Given the description of an element on the screen output the (x, y) to click on. 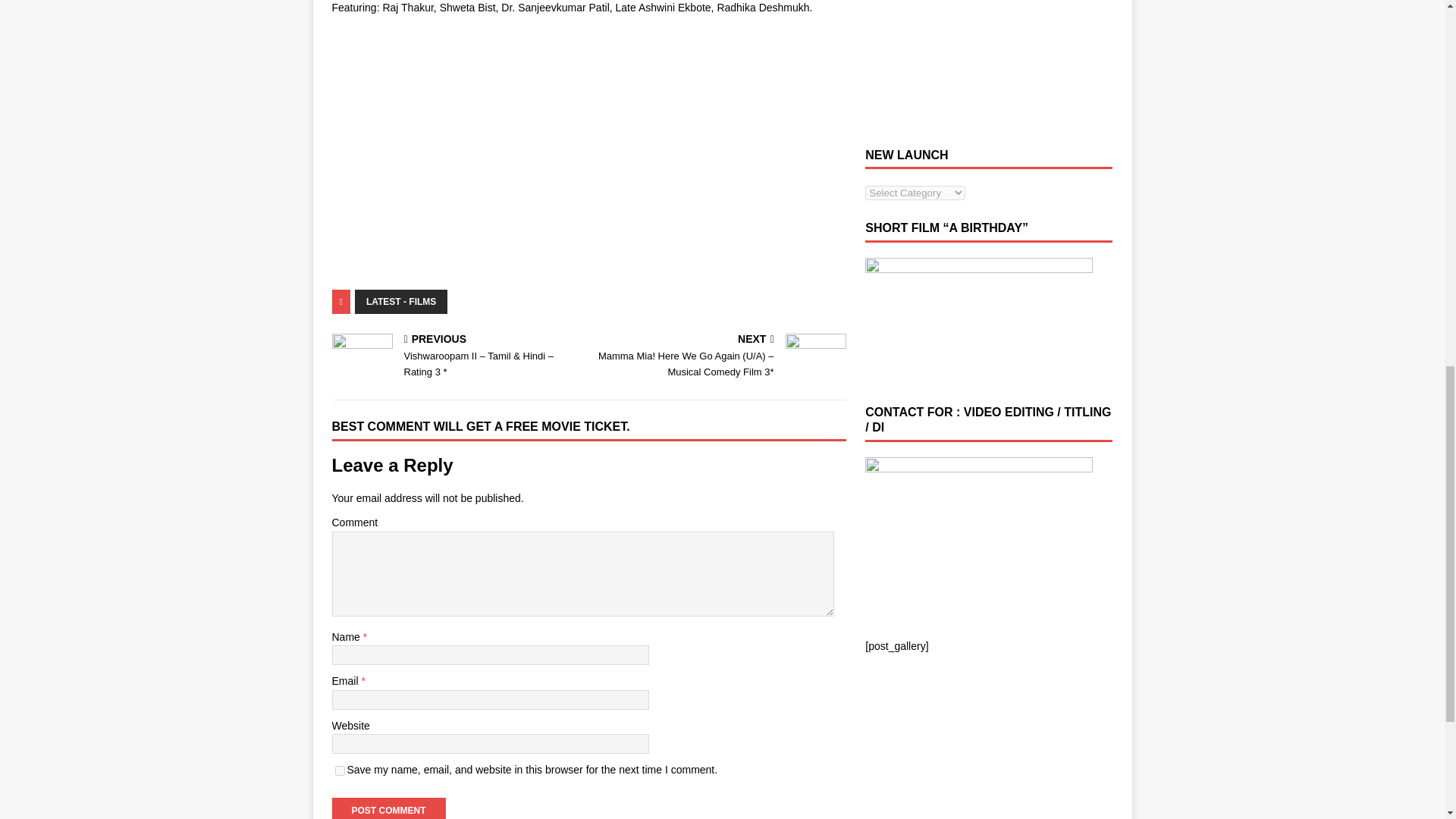
yes (339, 770)
Post Comment (388, 808)
